Given the description of an element on the screen output the (x, y) to click on. 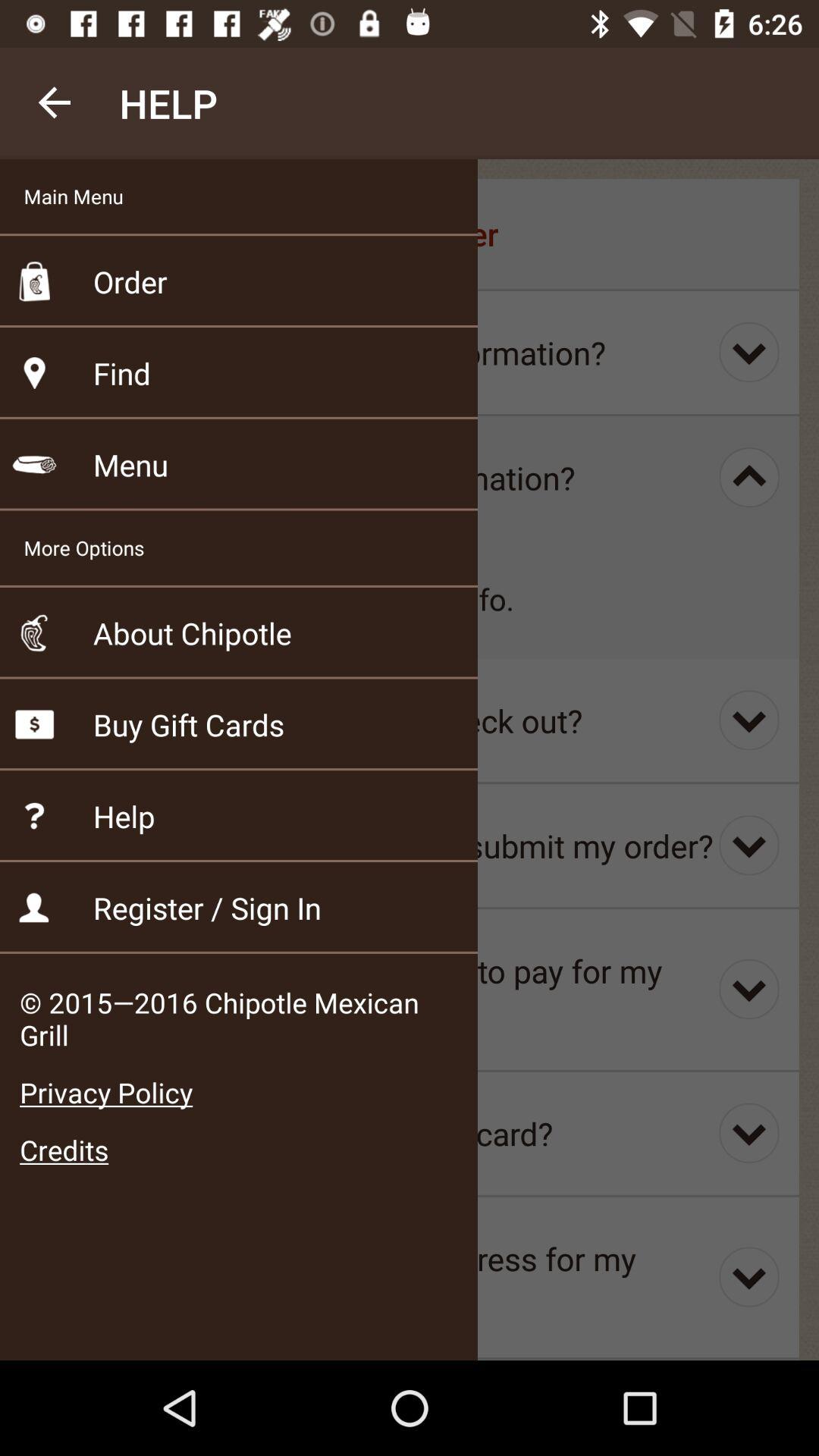
click on the last third icon at right corner of the page (749, 989)
click on the icon beside order (34, 281)
click on the fifth category icon from the top (34, 724)
click on the button at the right side of the page (749, 351)
